Given the description of an element on the screen output the (x, y) to click on. 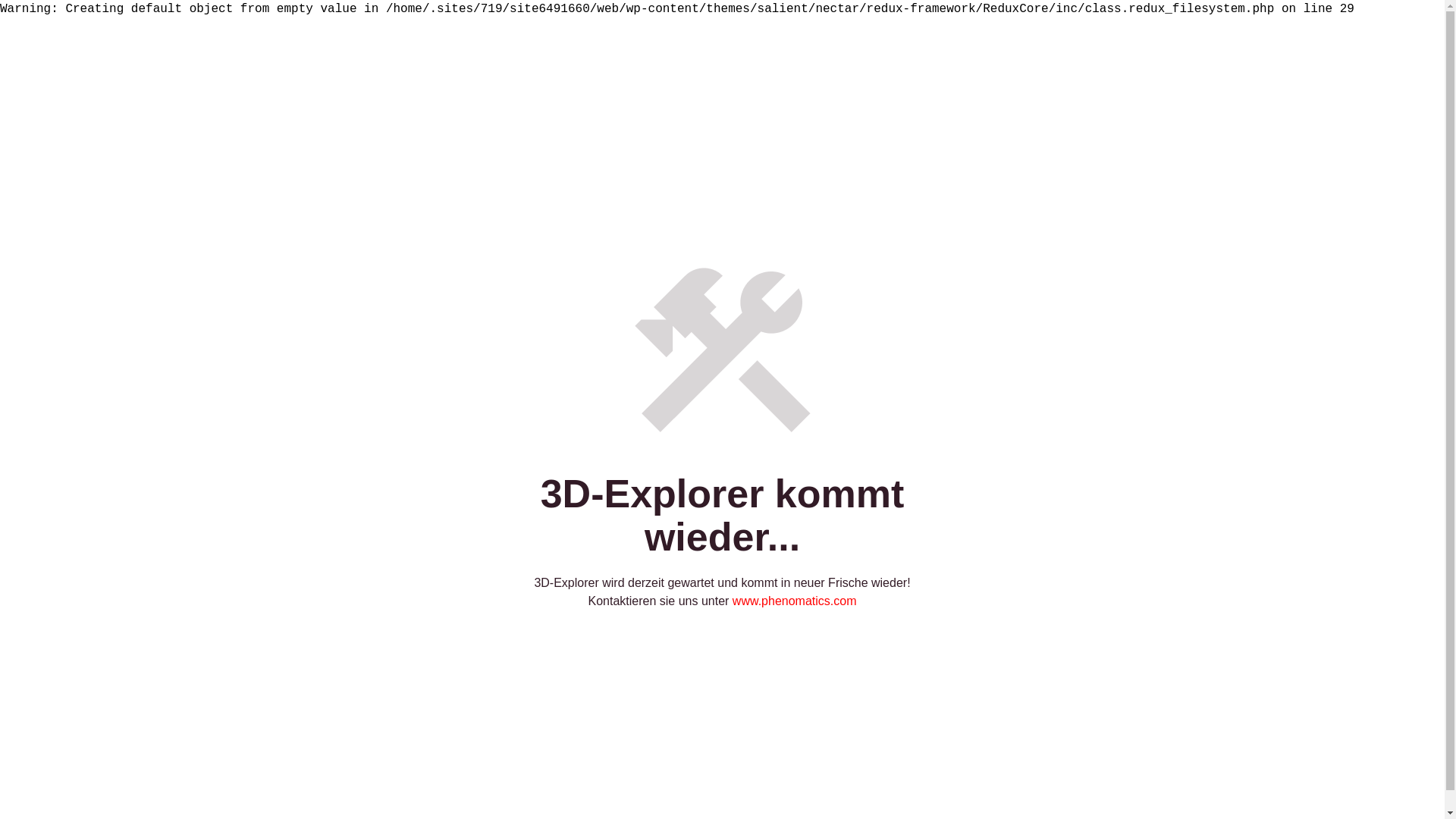
www.phenomatics.com Element type: text (794, 600)
